Given the description of an element on the screen output the (x, y) to click on. 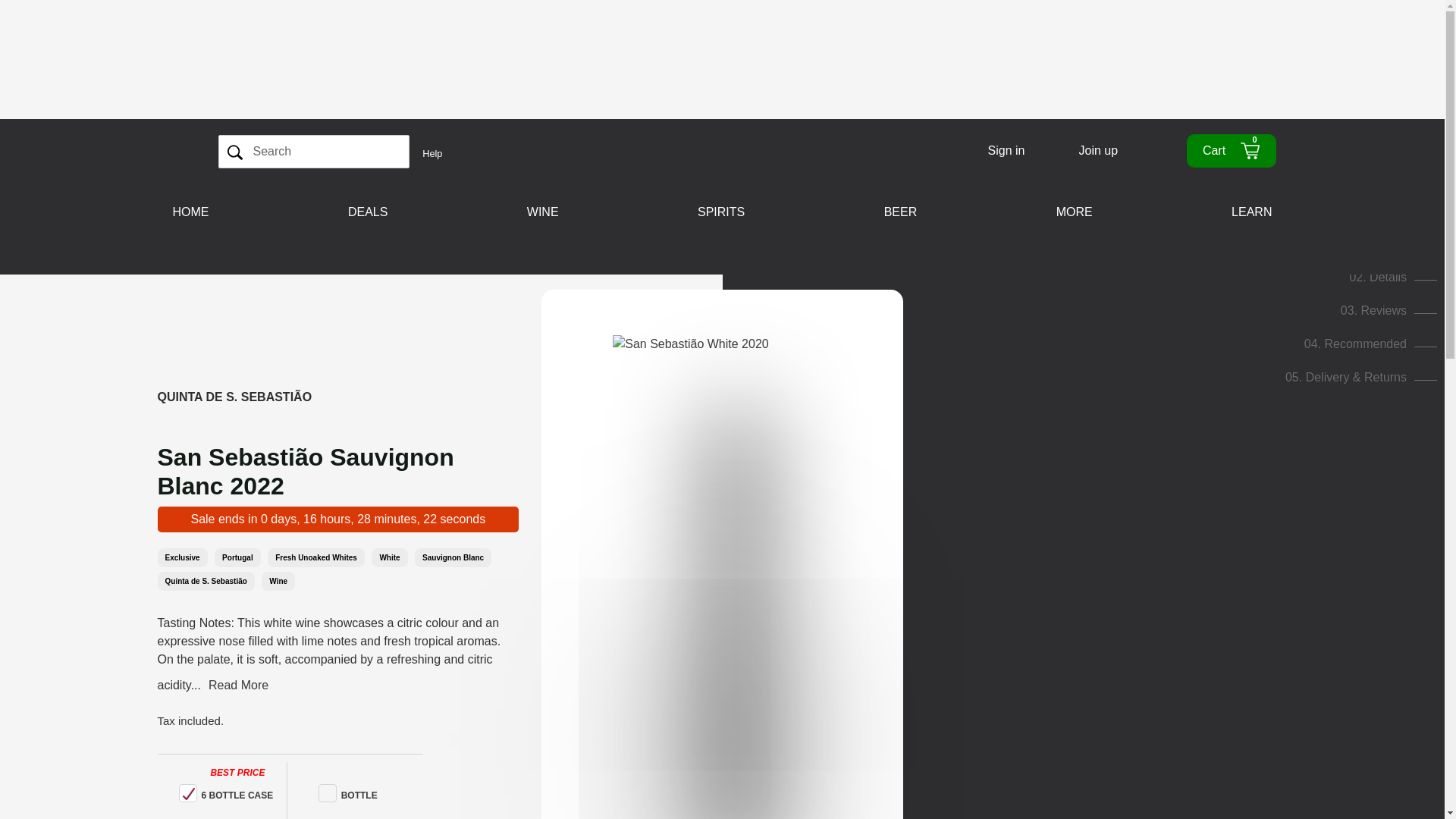
WINE (542, 212)
MORE (1074, 212)
Wine (278, 580)
03. Reviews (1388, 309)
BEER (901, 212)
Sign in (1006, 150)
LEARN (1251, 212)
DEALS (368, 212)
02. Details (1393, 277)
04. Recommended (1370, 343)
